Given the description of an element on the screen output the (x, y) to click on. 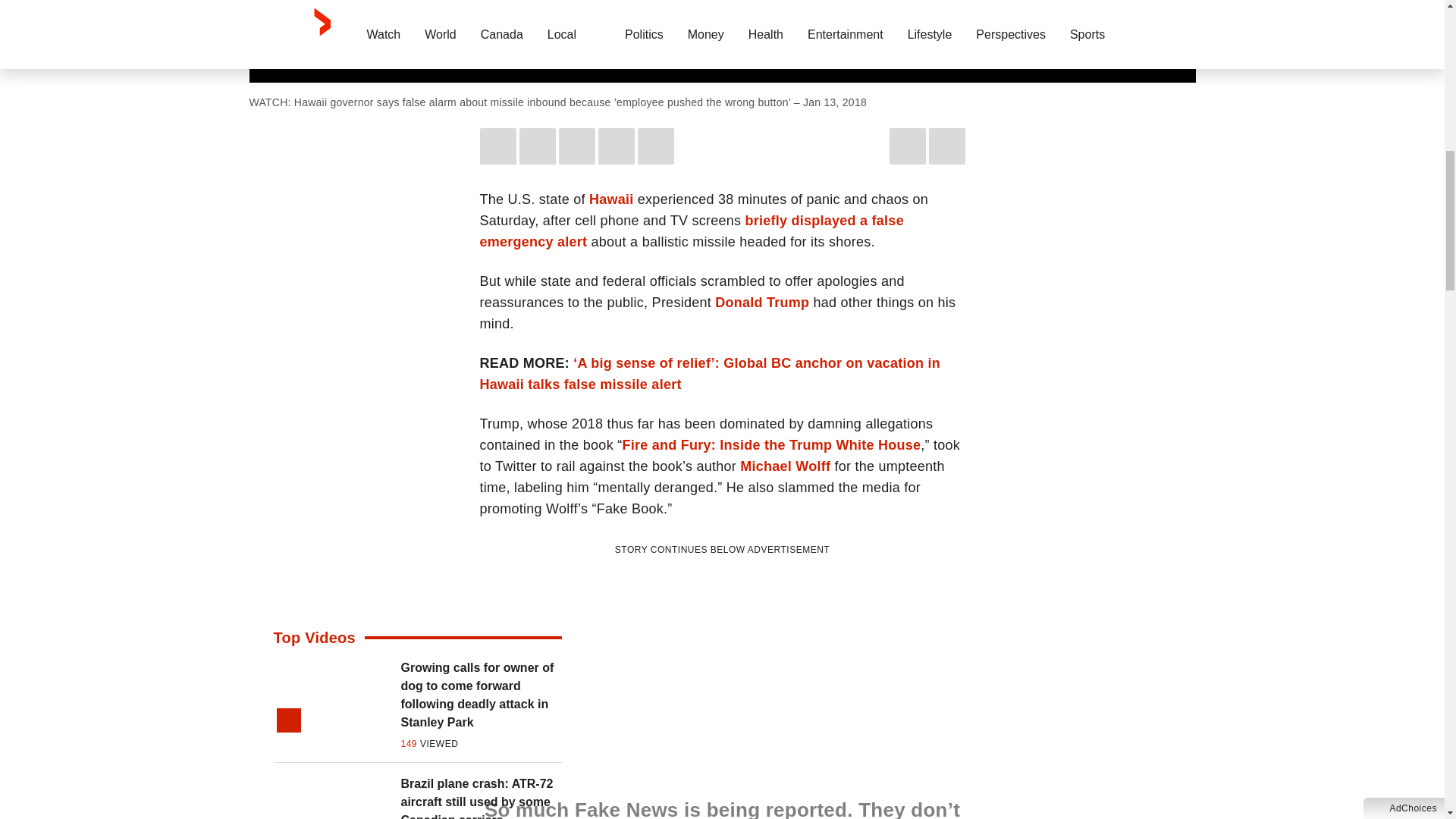
Sticky Video (721, 41)
